Given the description of an element on the screen output the (x, y) to click on. 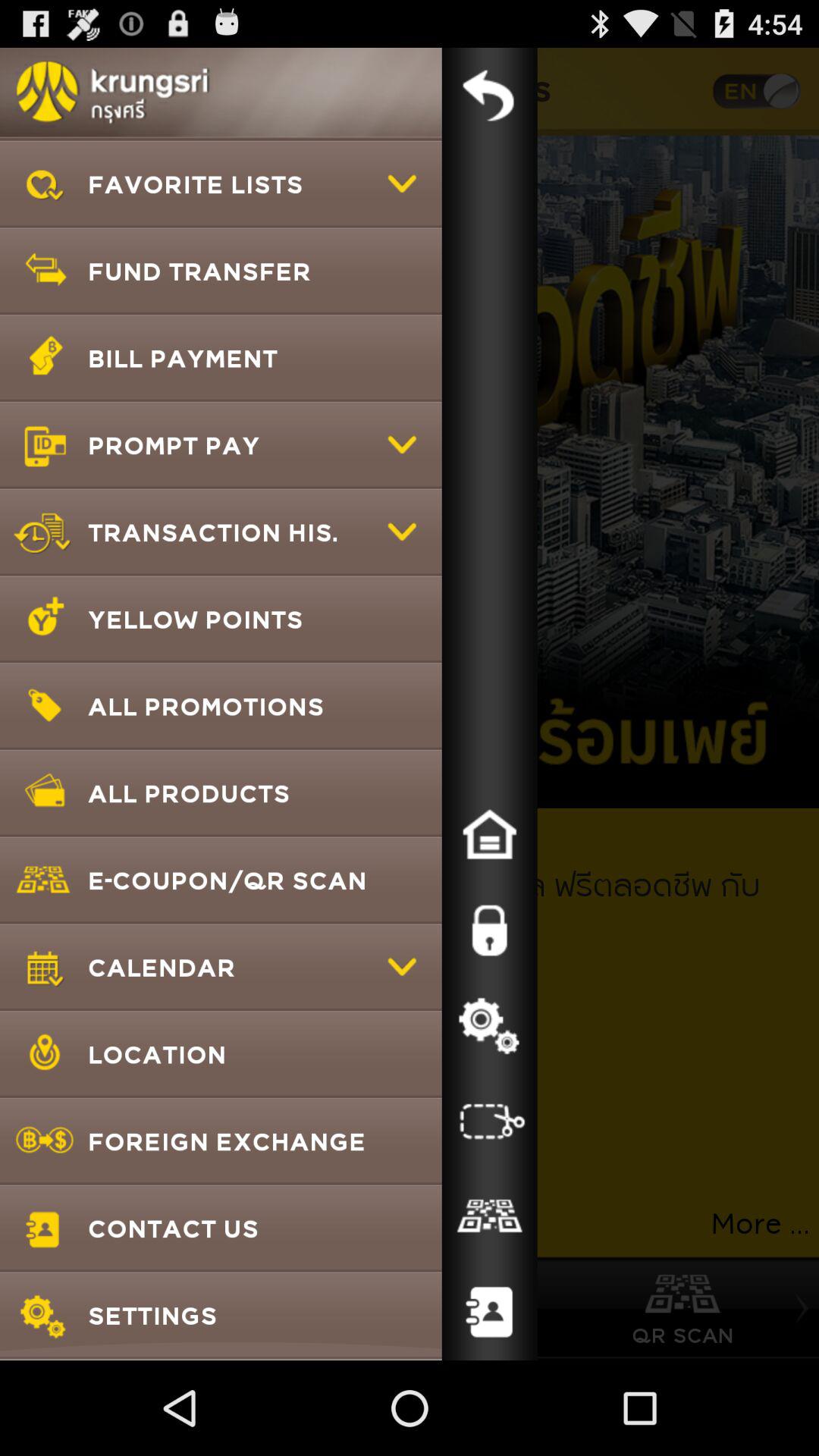
check contact (489, 1216)
